Given the description of an element on the screen output the (x, y) to click on. 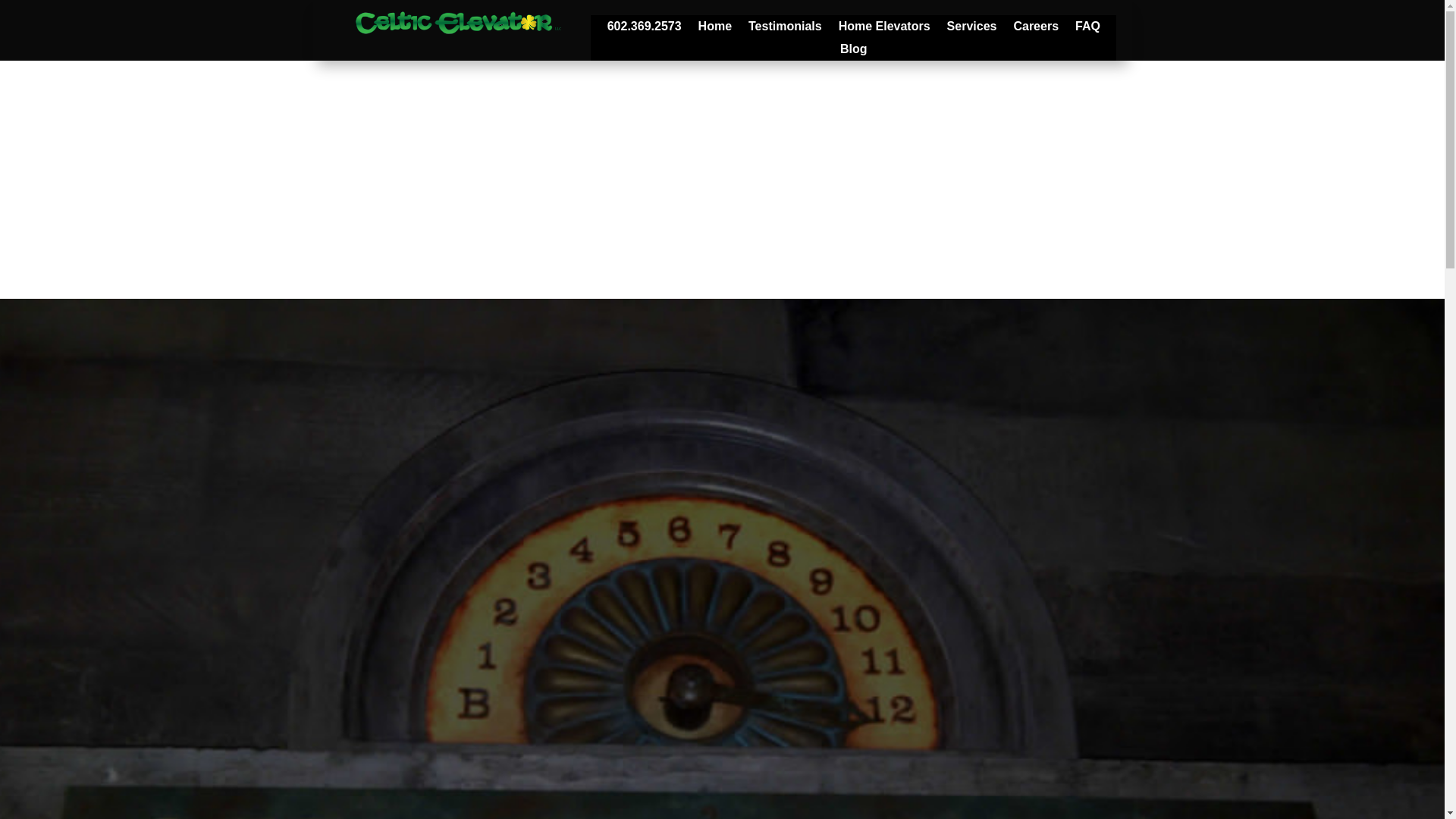
Blog (853, 52)
Services (972, 29)
Careers (1035, 29)
Home Elevators (884, 29)
Home (715, 29)
FAQ (1087, 29)
602.369.2573 (644, 29)
Testimonials (785, 29)
